Given the description of an element on the screen output the (x, y) to click on. 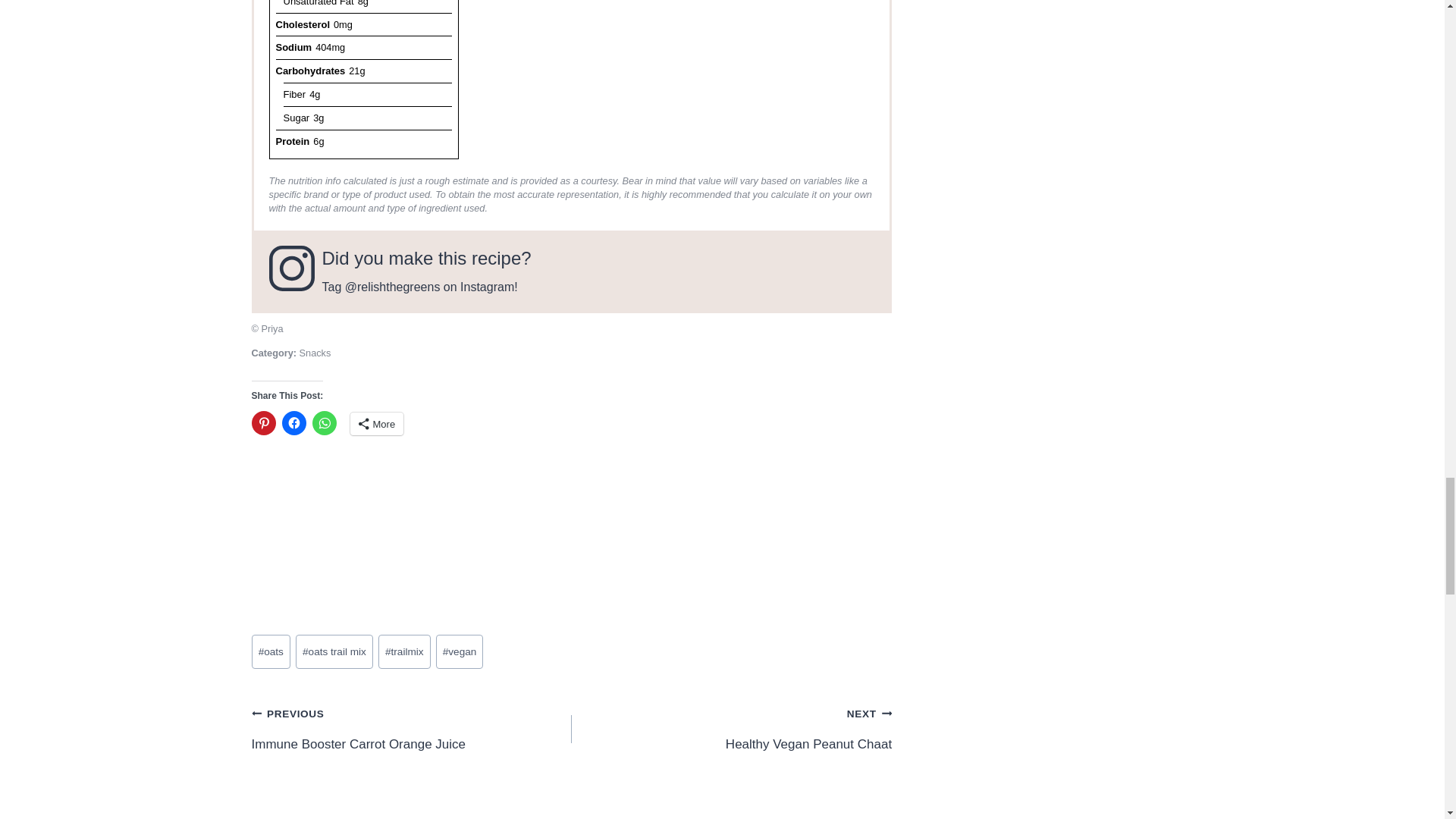
Click to share on WhatsApp (324, 422)
Click to share on Facebook (293, 422)
Click to share on Pinterest (263, 422)
